Given the description of an element on the screen output the (x, y) to click on. 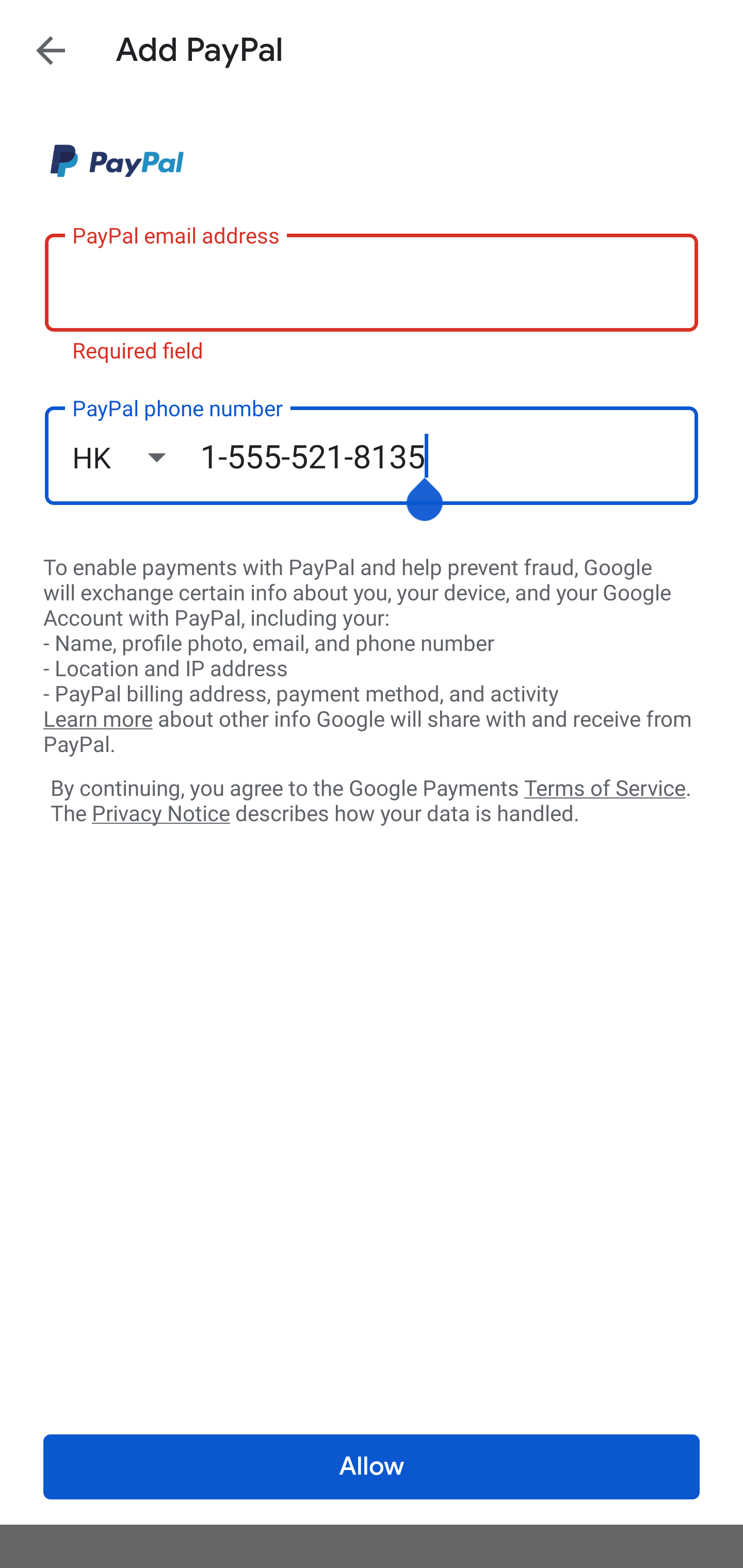
Navigate up (50, 50)
HK (135, 456)
Learn more (97, 719)
Terms of Service (604, 787)
Privacy Notice (160, 814)
Allow (371, 1466)
